Given the description of an element on the screen output the (x, y) to click on. 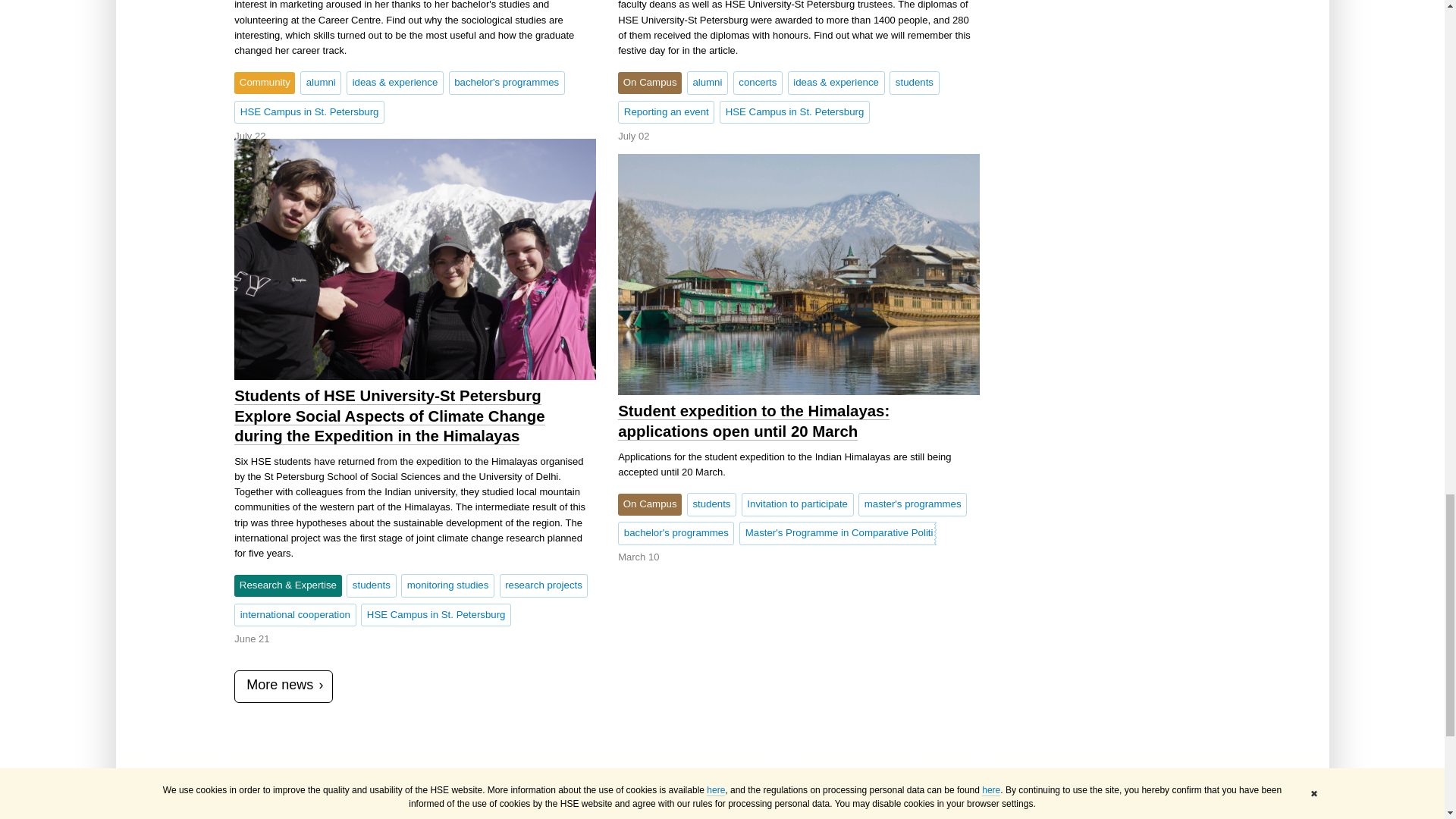
concerts (758, 82)
alumni (707, 82)
Reporting an event (665, 111)
HSE Campus in St. Petersburg (794, 111)
bachelor's programmes (506, 82)
On Campus (649, 82)
Community (264, 82)
students (914, 82)
alumni (319, 82)
HSE Campus in St. Petersburg (309, 111)
